Given the description of an element on the screen output the (x, y) to click on. 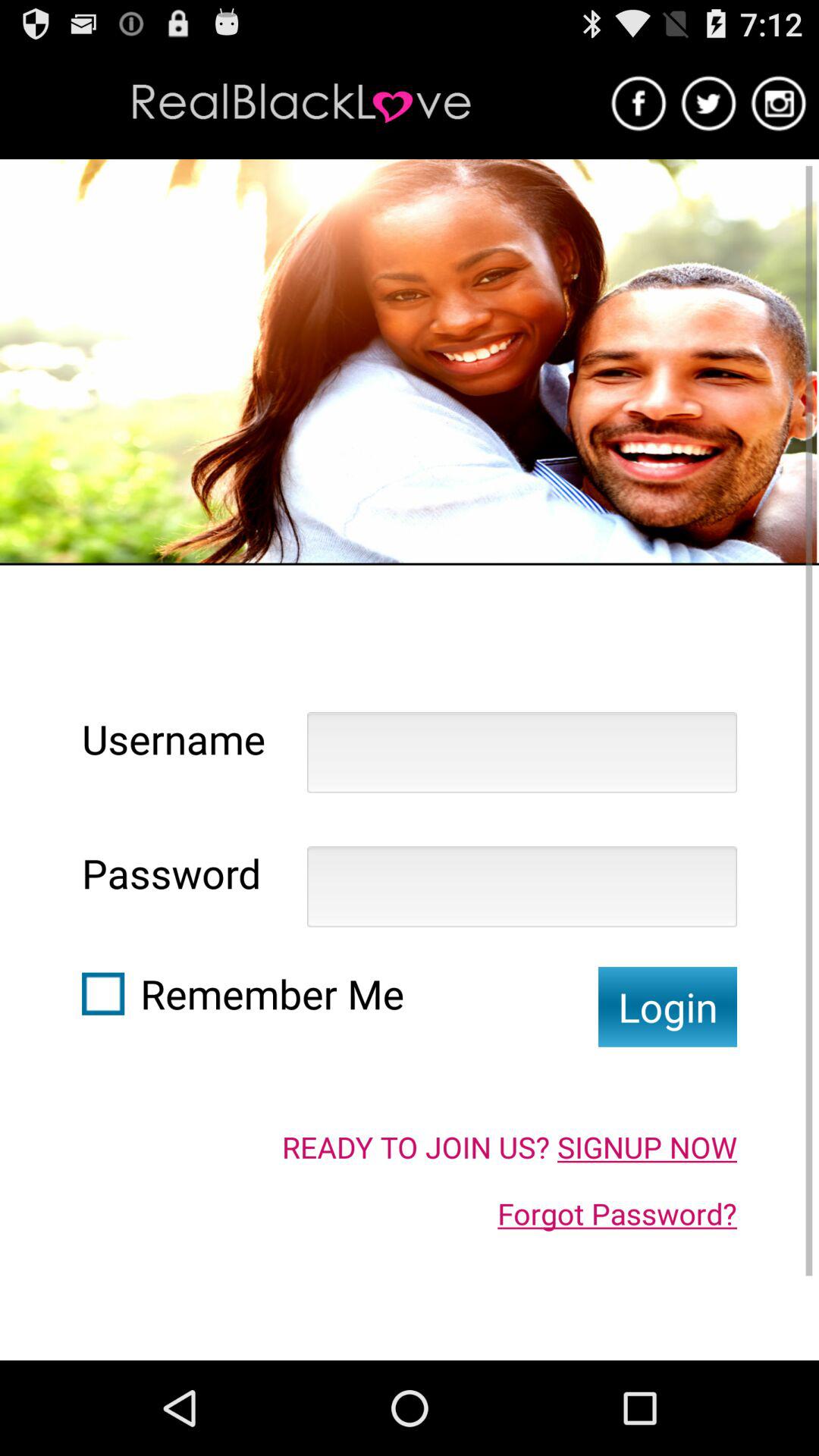
scroll to login item (667, 1006)
